Given the description of an element on the screen output the (x, y) to click on. 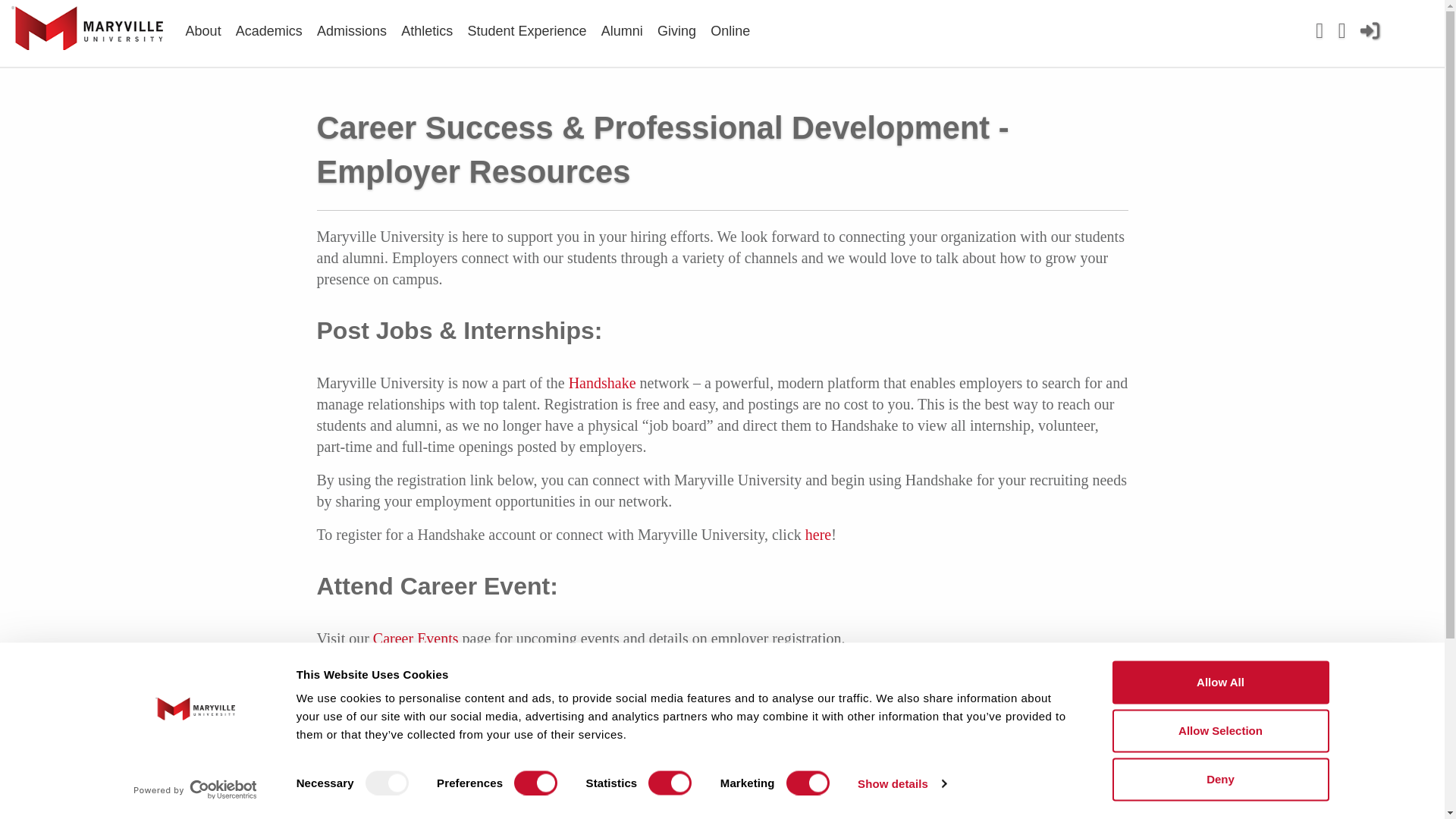
Show details (900, 783)
